Given the description of an element on the screen output the (x, y) to click on. 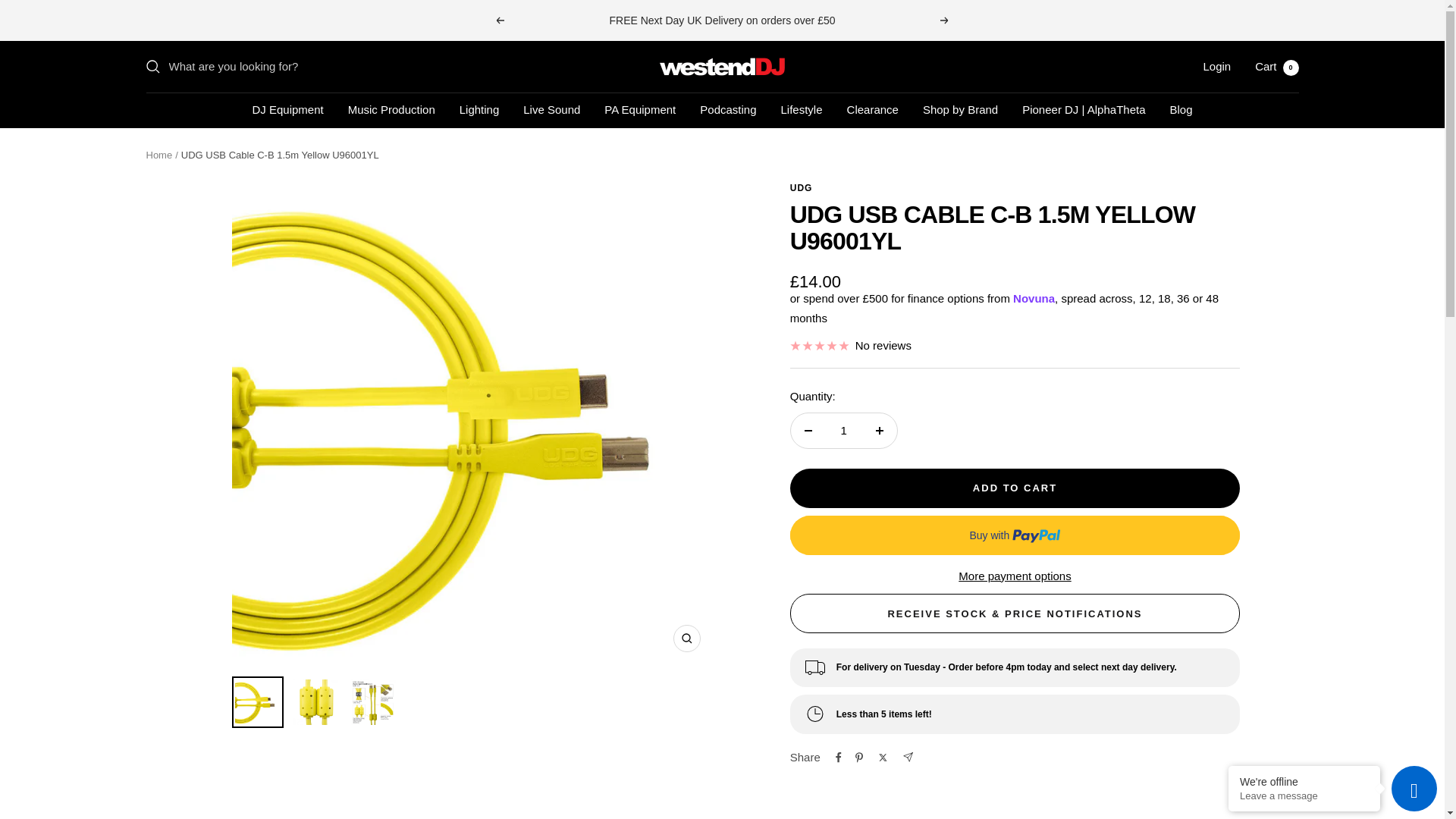
Blog (1180, 109)
DJ Equipment (287, 109)
Leave a message (1304, 795)
Next (944, 20)
Zoom (686, 637)
We're offline (1304, 781)
Music Production (1276, 65)
Westend DJ (391, 109)
Clearance (721, 66)
Login (872, 109)
Lighting (1216, 65)
Live Sound (479, 109)
Home (550, 109)
1 (158, 154)
